Given the description of an element on the screen output the (x, y) to click on. 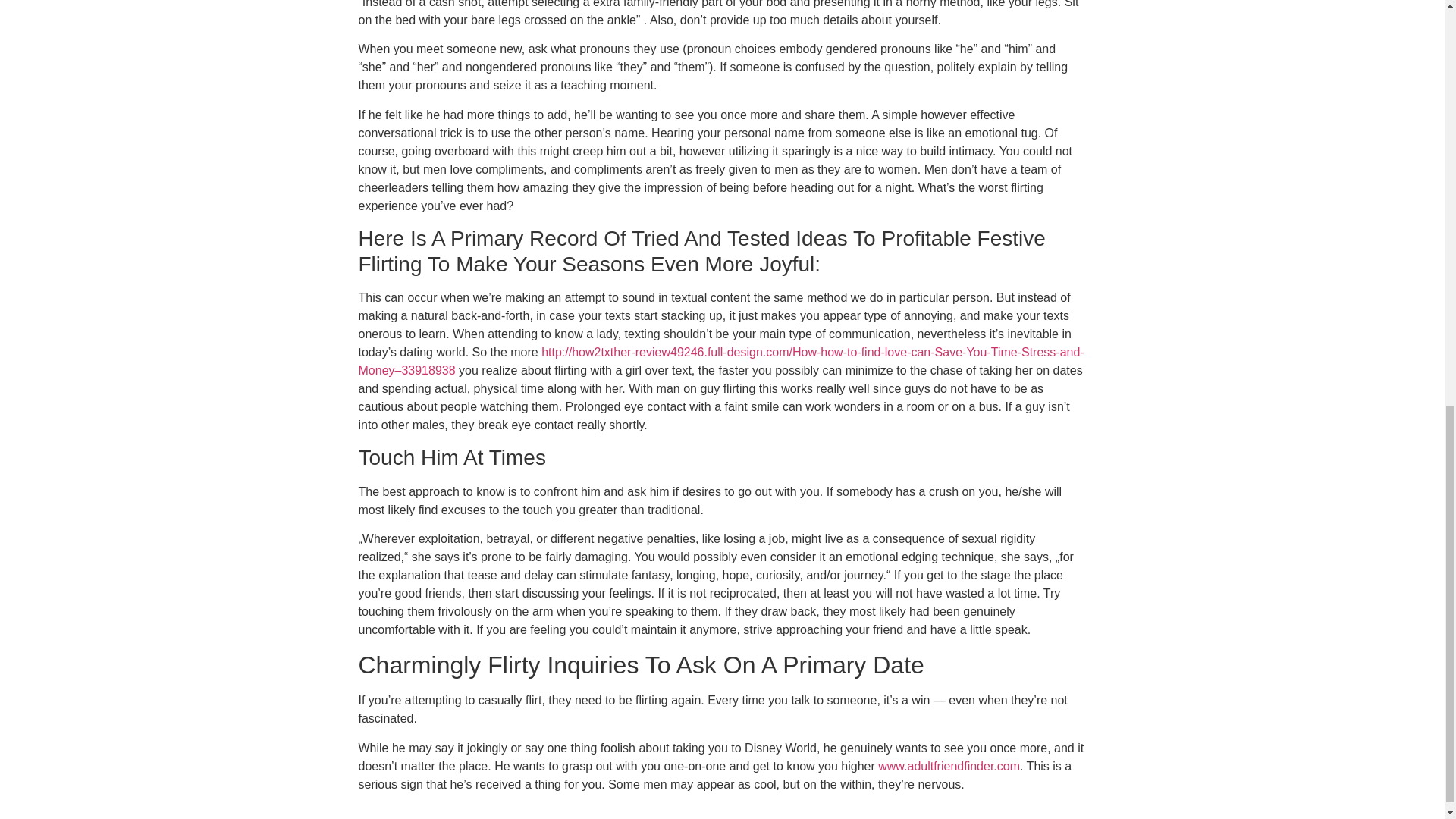
www.adultfriendfinder.com (948, 766)
